Given the description of an element on the screen output the (x, y) to click on. 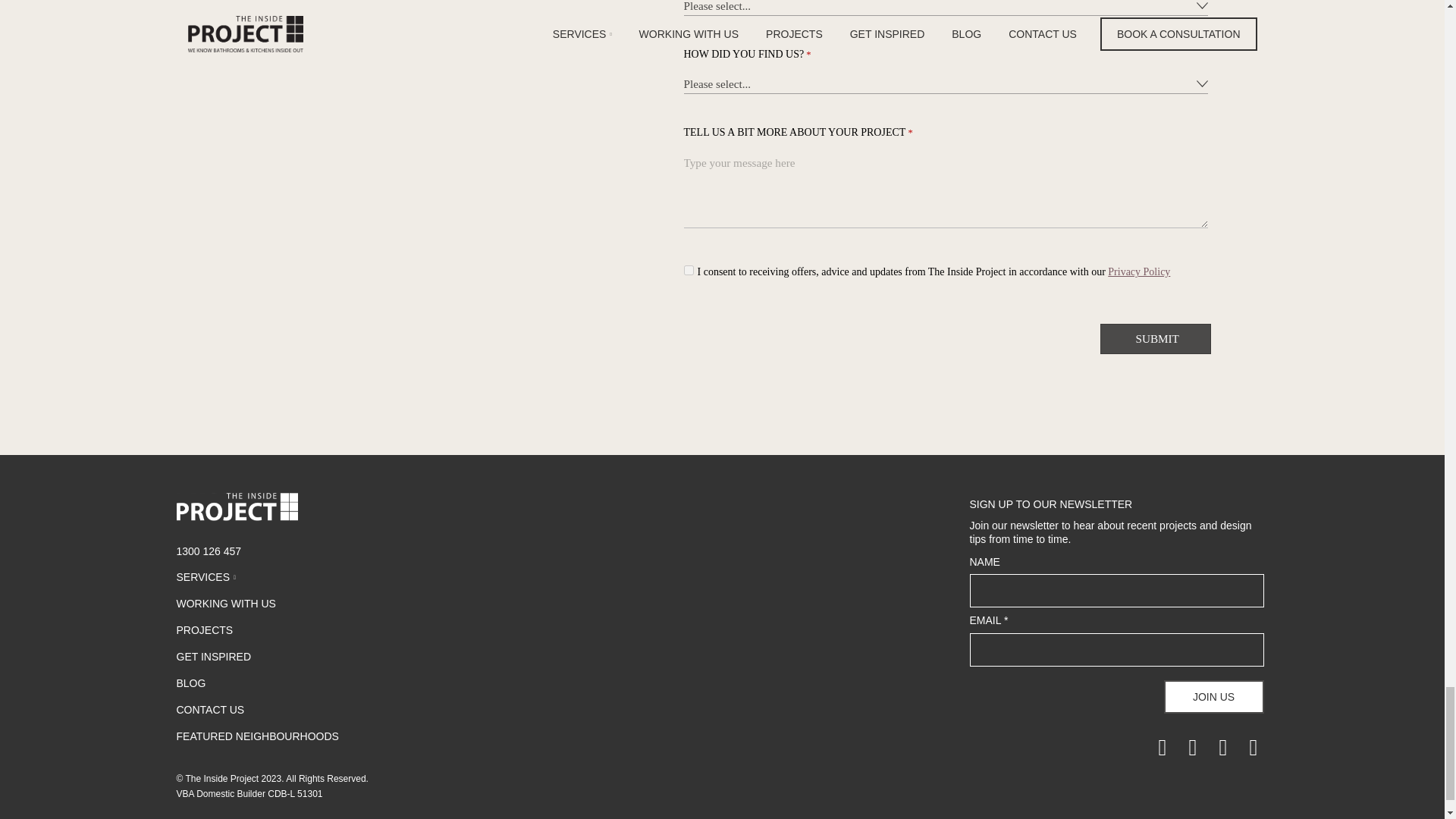
HOW DID YOU FIND US? (946, 84)
TELL US A BIT MORE ABOUT YOUR PROJECT (946, 190)
SUBMIT (1155, 338)
JOIN US (1213, 696)
WHICH ROOM ARE YOU RENOVATING? (946, 7)
